Given the description of an element on the screen output the (x, y) to click on. 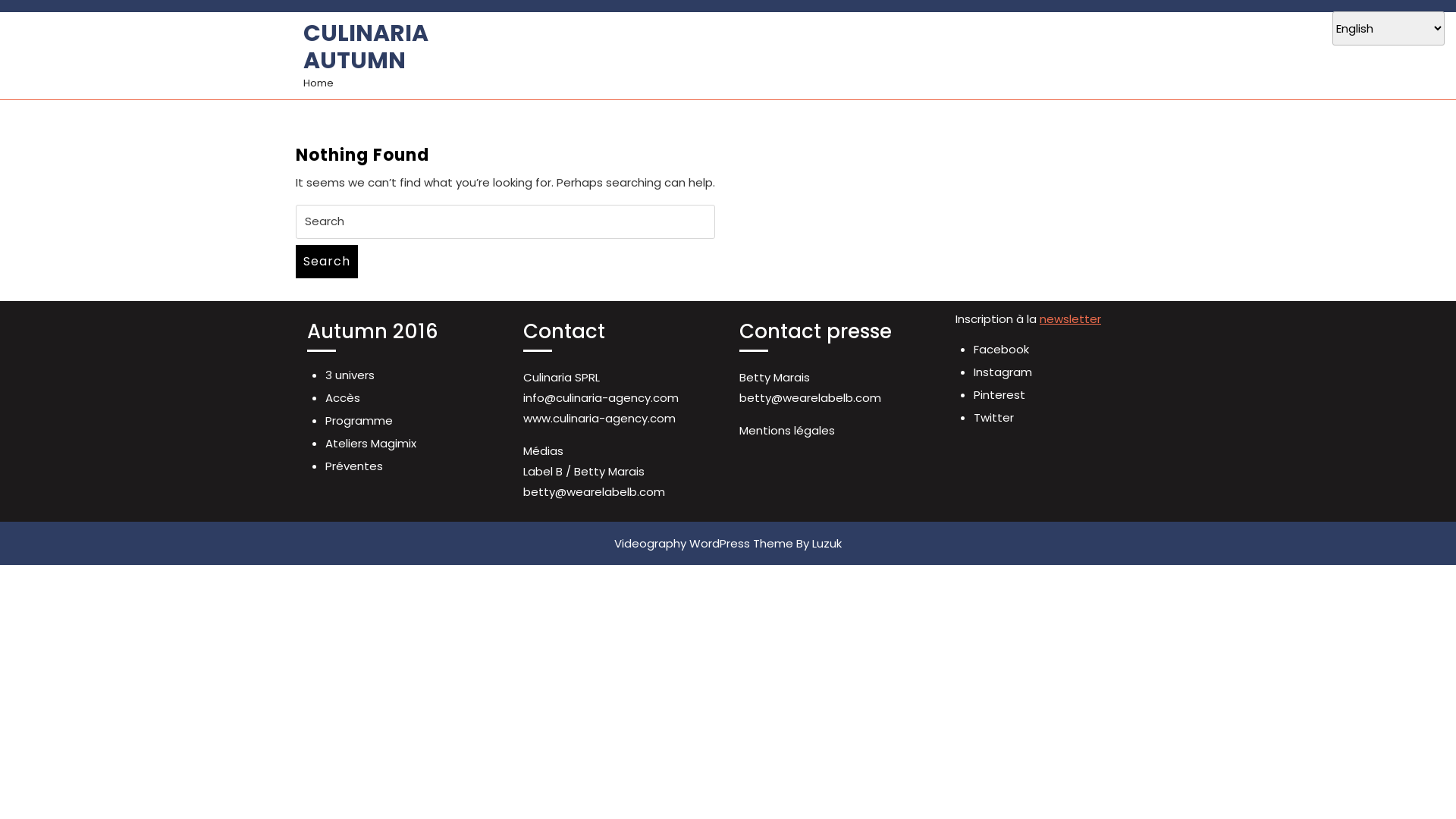
Pinterest Element type: text (999, 394)
Instagram Element type: text (1002, 371)
newsletter Element type: text (1070, 318)
Search Element type: text (326, 261)
CULINARIA AUTUMN Element type: text (365, 46)
Twitter Element type: text (993, 417)
Videography WordPress Theme Element type: text (703, 543)
Facebook Element type: text (1001, 349)
